Given the description of an element on the screen output the (x, y) to click on. 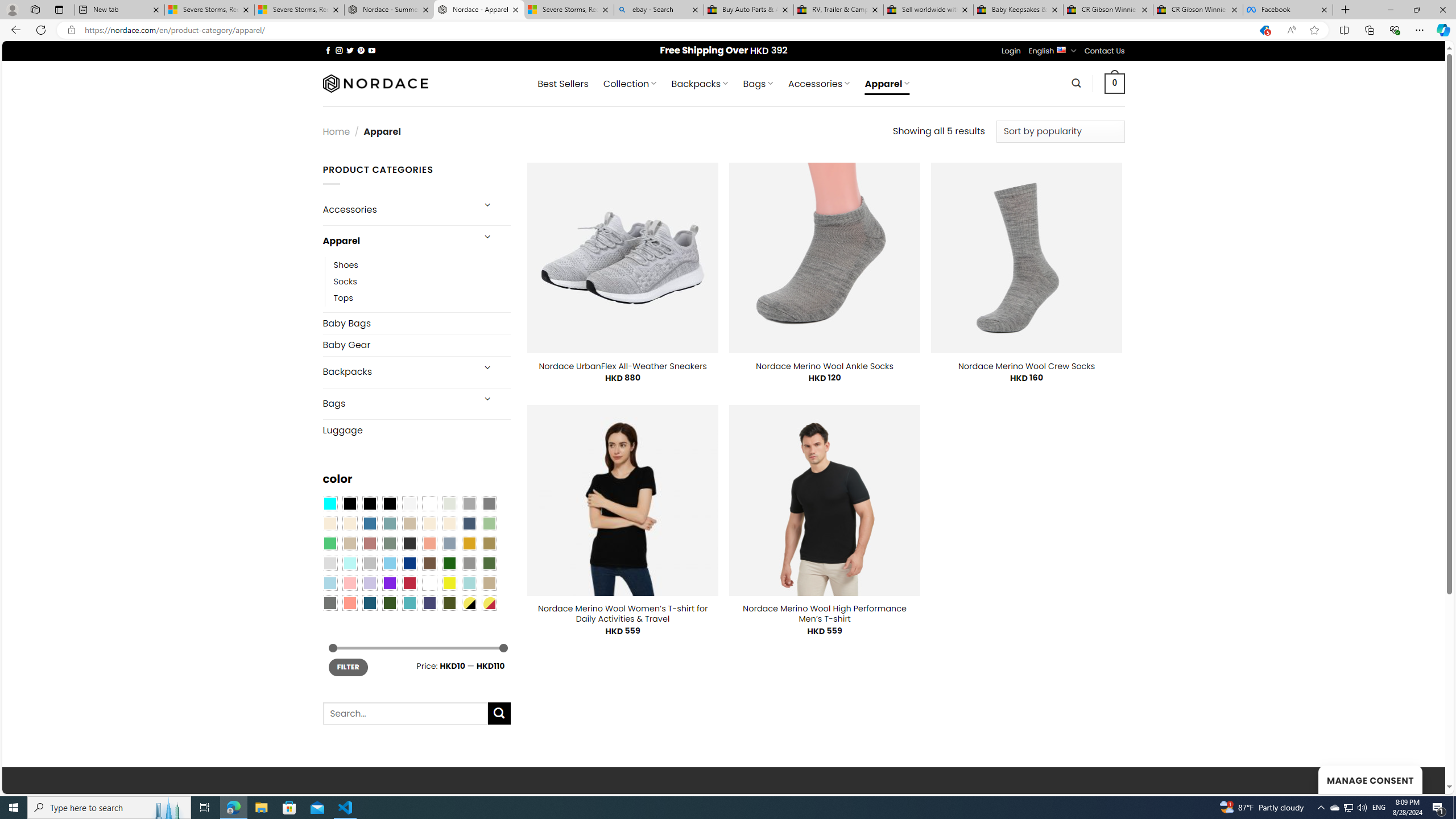
Sage (389, 542)
 Best Sellers (562, 83)
Dull Nickle (329, 602)
  0   (1115, 83)
 0  (1115, 83)
Luggage (416, 430)
Purple (389, 582)
Light Gray (329, 562)
Luggage (416, 430)
Accessories (397, 209)
